Given the description of an element on the screen output the (x, y) to click on. 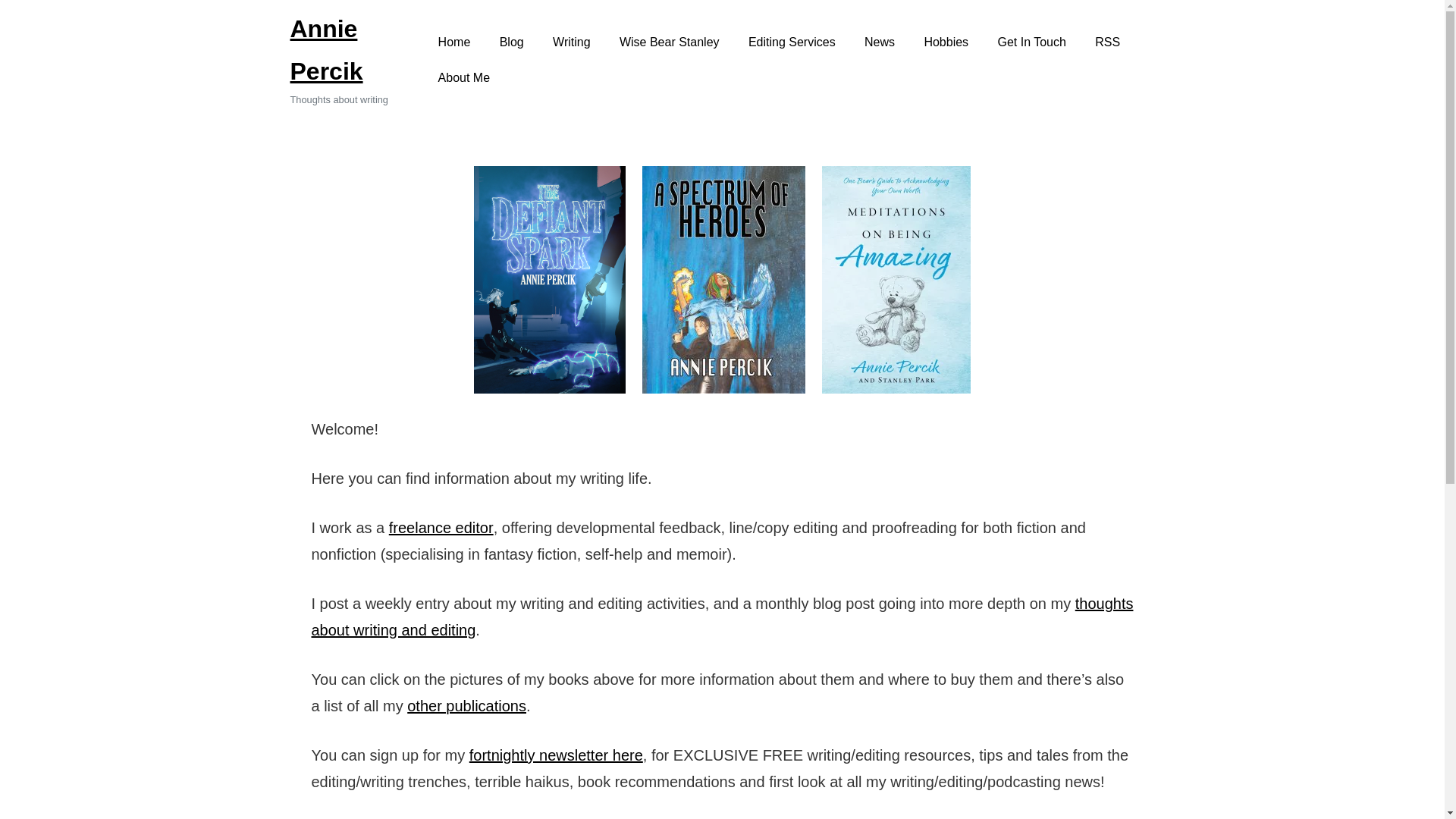
fortnightly newsletter here (555, 754)
Hobbies (945, 41)
freelance editor (440, 527)
About Me (463, 78)
News (879, 41)
Annie Percik (325, 50)
Get In Touch (1031, 41)
Editing Services (791, 41)
RSS (1107, 41)
Writing (571, 41)
other publications (466, 705)
thoughts about writing and editing (721, 616)
Wise Bear Stanley (669, 41)
Blog (510, 41)
Home (453, 41)
